Given the description of an element on the screen output the (x, y) to click on. 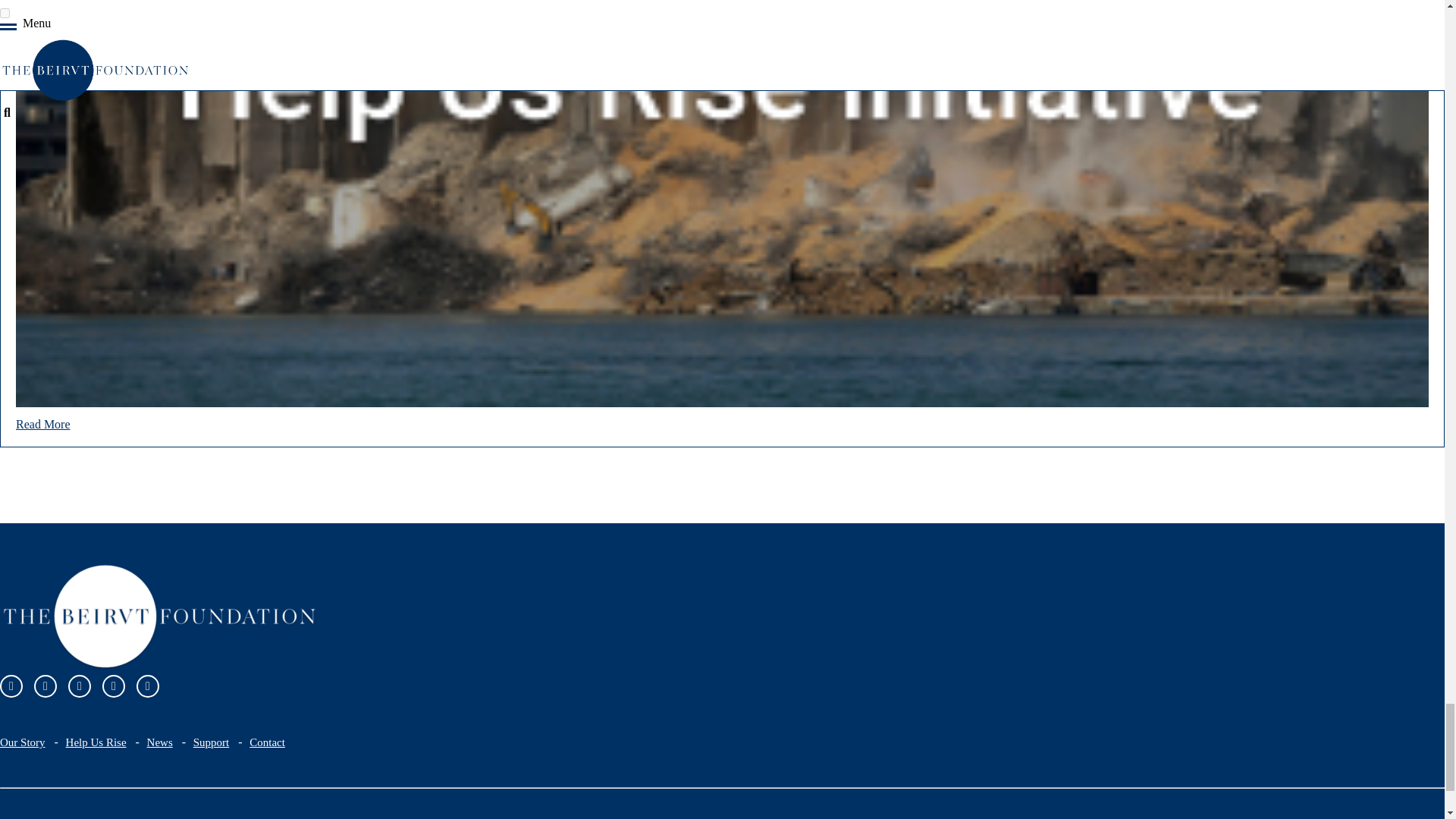
Contact (266, 742)
Support (211, 742)
Read More (42, 423)
News (160, 742)
Our Story (22, 742)
Help Us Rise (95, 742)
